Given the description of an element on the screen output the (x, y) to click on. 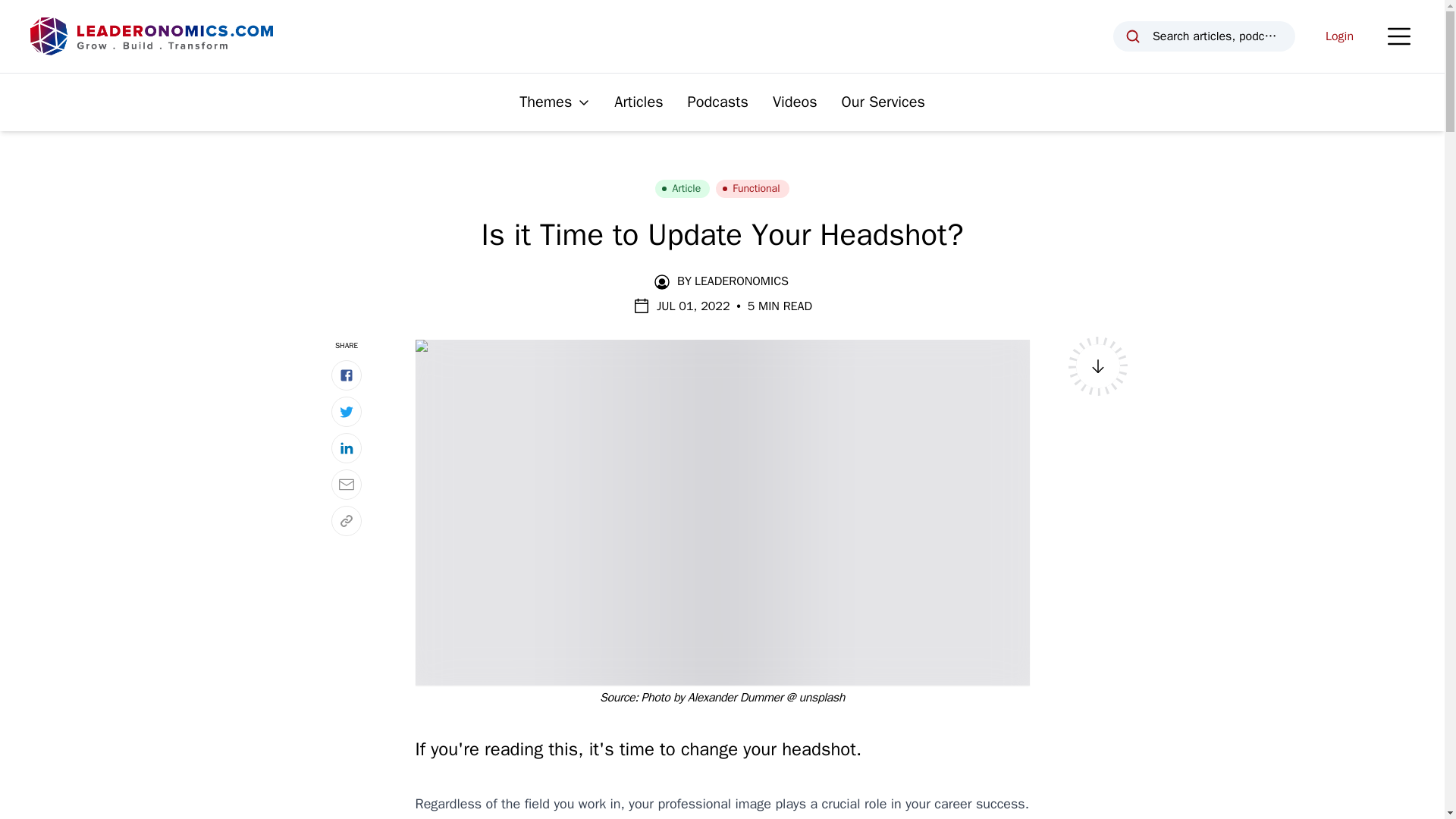
Search articles, podcasts, videos, resources, and authors. (1204, 36)
Videos (794, 102)
Articles (638, 102)
Open Sidebar Menu (1398, 36)
LEADERONOMICS (741, 280)
Login (1339, 36)
Functional (752, 188)
Themes (554, 102)
Our Services (882, 102)
Article (682, 188)
